Given the description of an element on the screen output the (x, y) to click on. 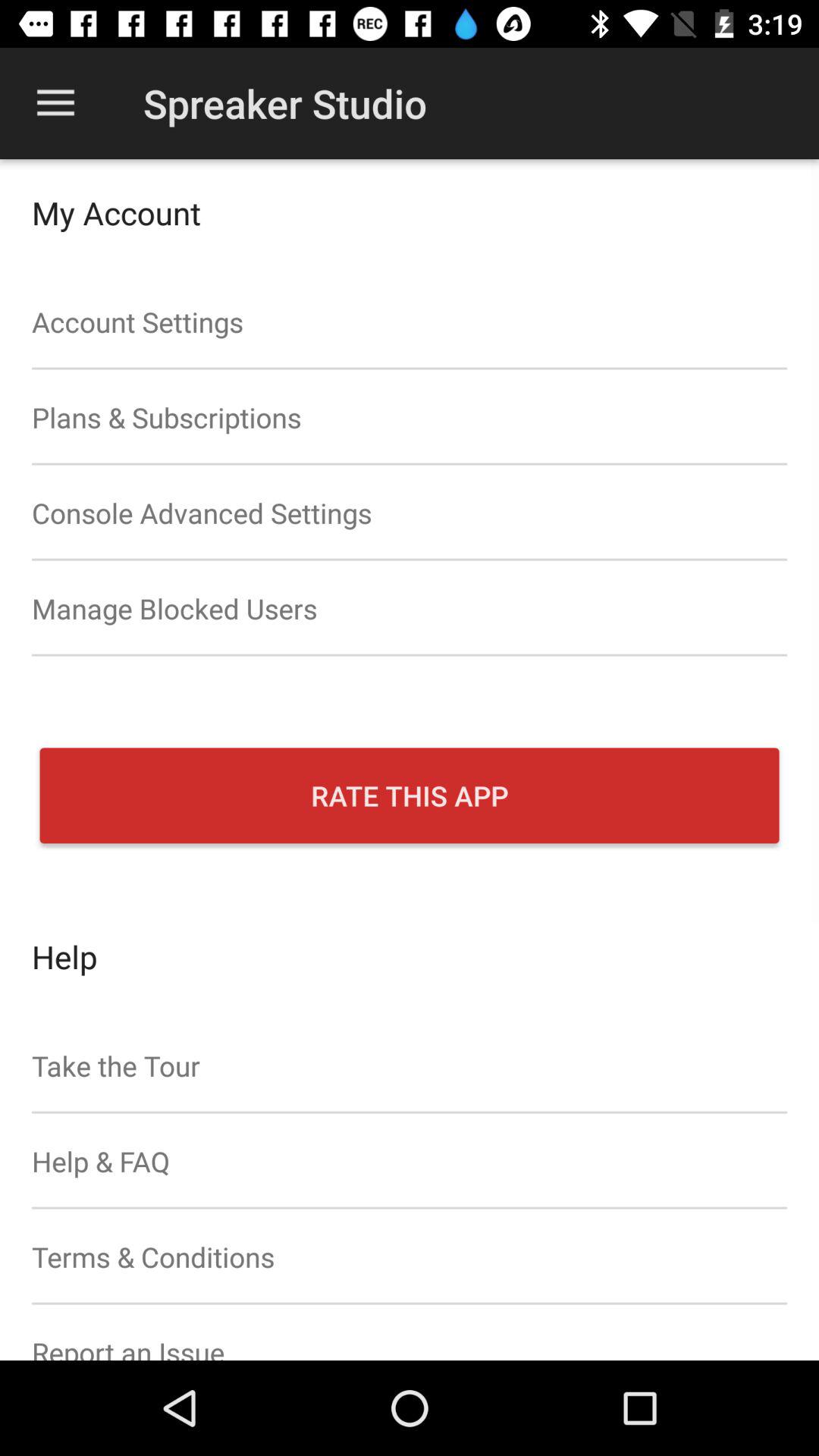
select item above report an issue (409, 1256)
